Given the description of an element on the screen output the (x, y) to click on. 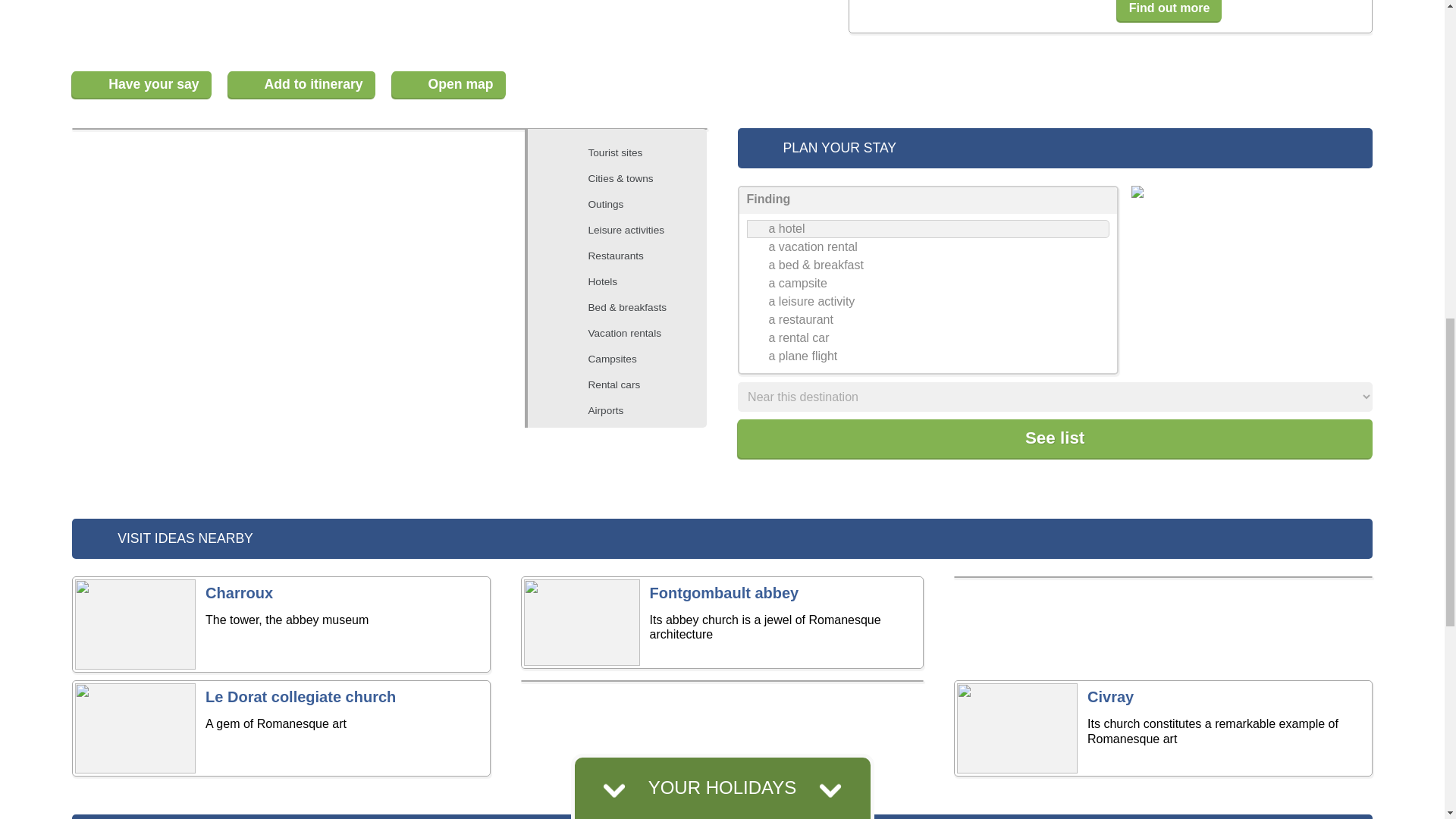
Tourist sites (624, 153)
Hotels (624, 281)
Outings (624, 204)
Vacation rentals (624, 333)
Leisure activities (624, 230)
Restaurants (624, 256)
Rental cars (624, 384)
Airports (624, 411)
Campsites (624, 359)
